Given the description of an element on the screen output the (x, y) to click on. 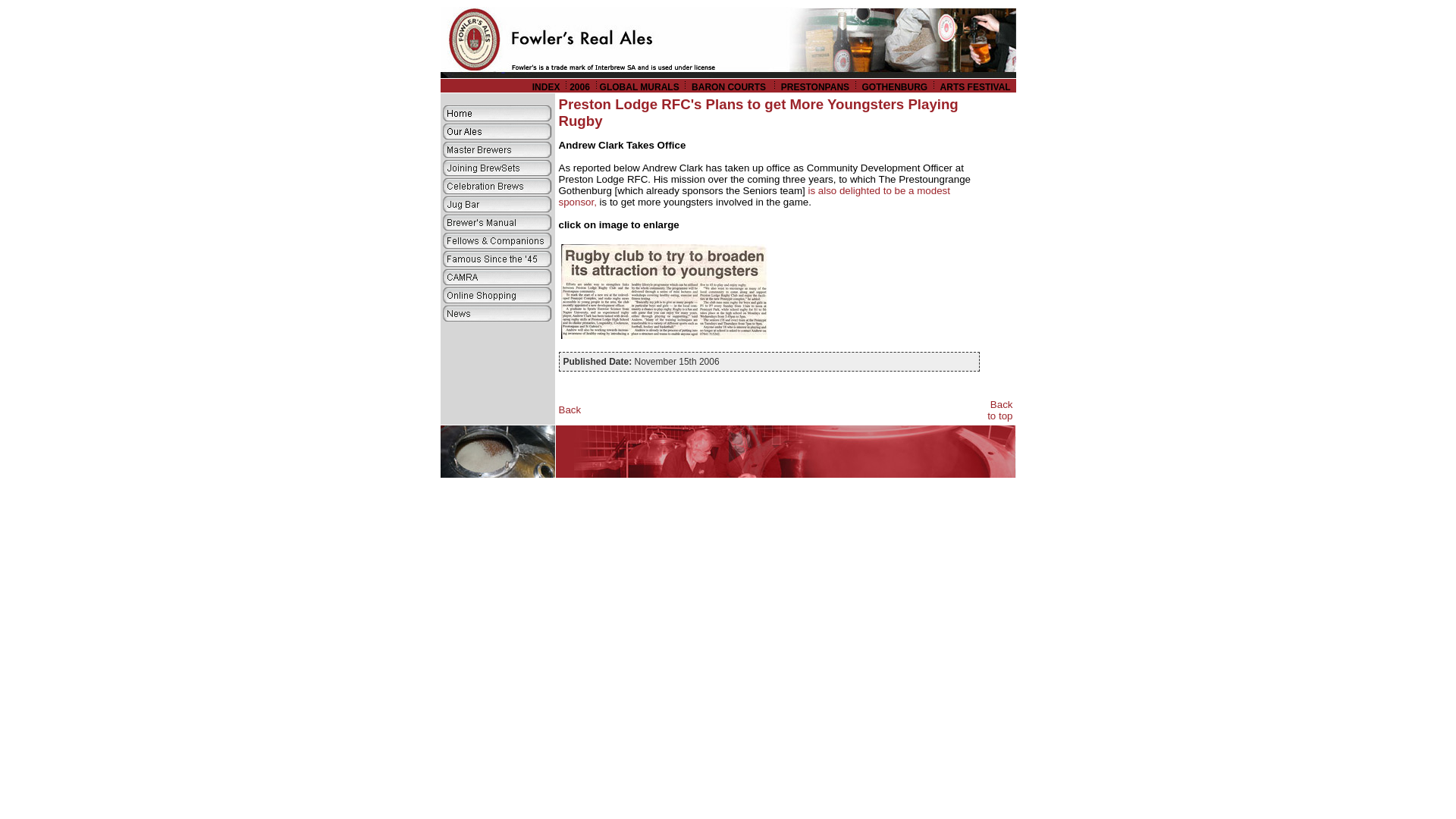
2006 (579, 86)
INDEX (546, 86)
PRESTONPANS (814, 86)
BARON COURTS (729, 86)
is also delighted to be a modest sponsor, (753, 196)
GLOBAL MURALS (639, 86)
Back to top (999, 409)
ARTS FESTIVAL (976, 86)
Back (568, 409)
GOTHENBURG (894, 86)
